Given the description of an element on the screen output the (x, y) to click on. 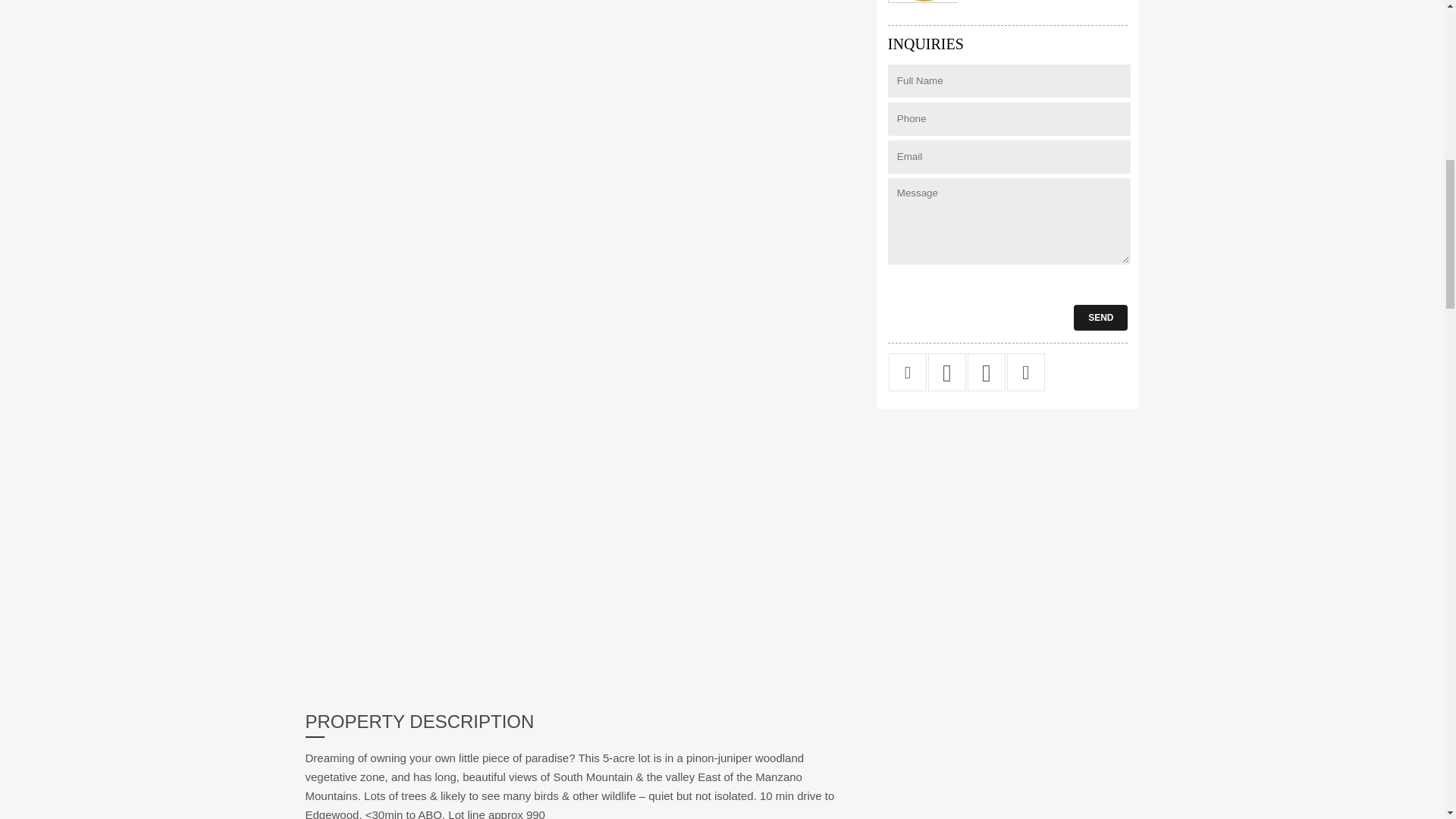
Send (1100, 317)
